Given the description of an element on the screen output the (x, y) to click on. 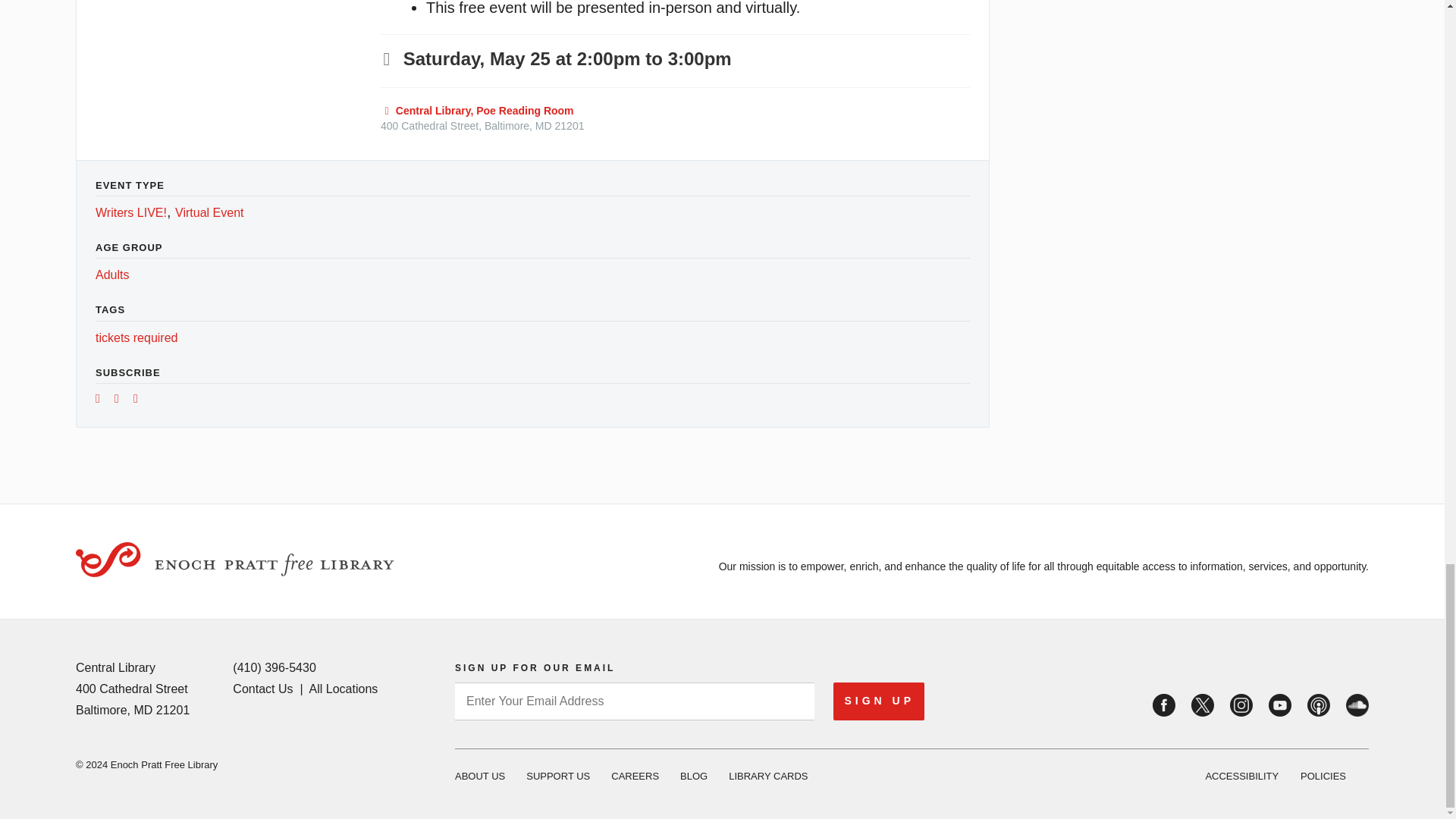
Save to Google Calendar (103, 400)
Save to Outlook (140, 400)
Sign Up (878, 701)
2024-05-25T15:00:00-04:00 (700, 58)
2024-05-25T14:00:00-04:00 (512, 58)
Save to iCal (122, 400)
